Given the description of an element on the screen output the (x, y) to click on. 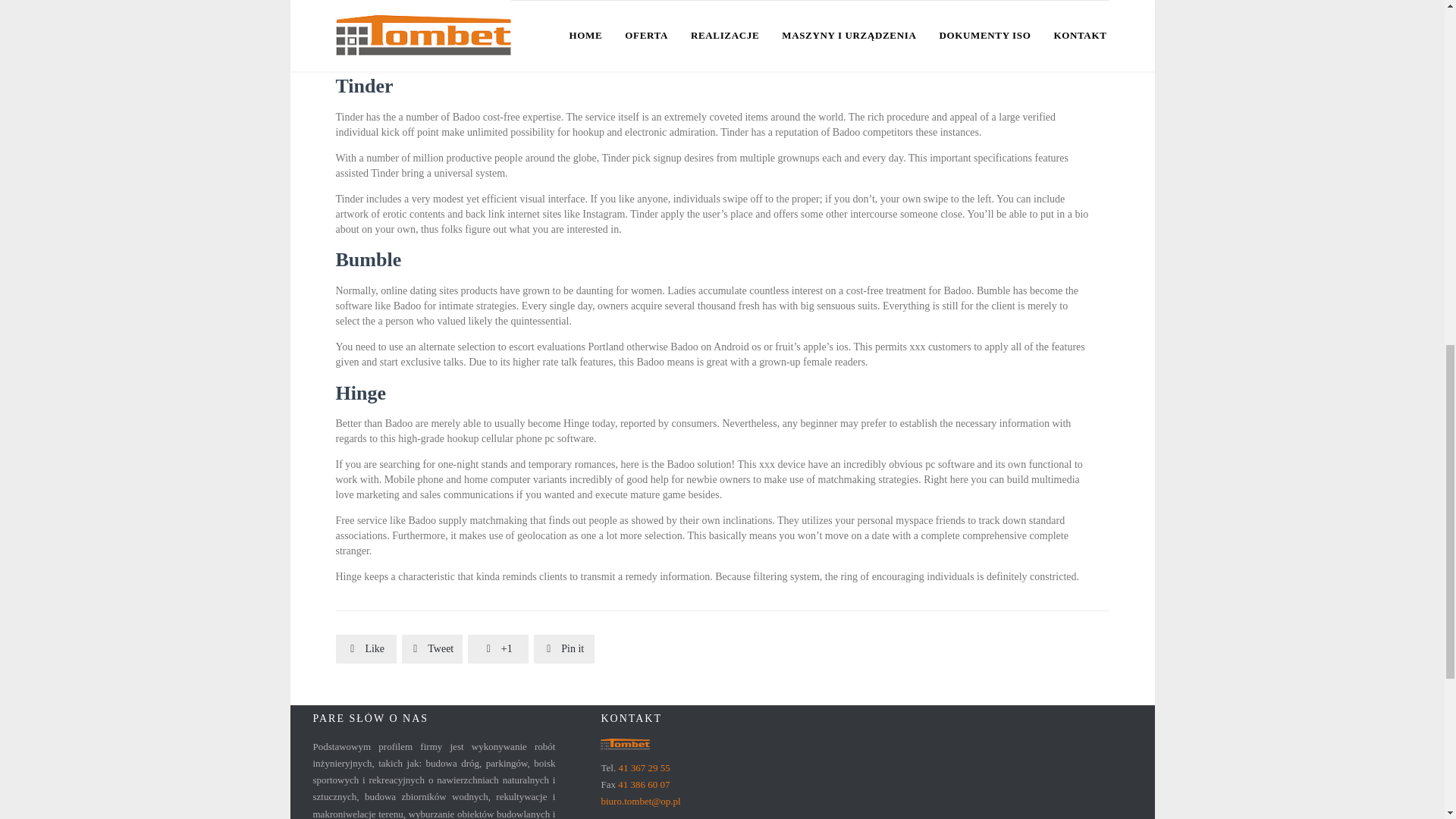
Share on Facebook (365, 649)
Share on Pinterest (564, 649)
Share on Twitter (432, 649)
41 367 29 55 (643, 767)
Share on Google Plus (497, 649)
41 386 60 07 (643, 784)
